Given the description of an element on the screen output the (x, y) to click on. 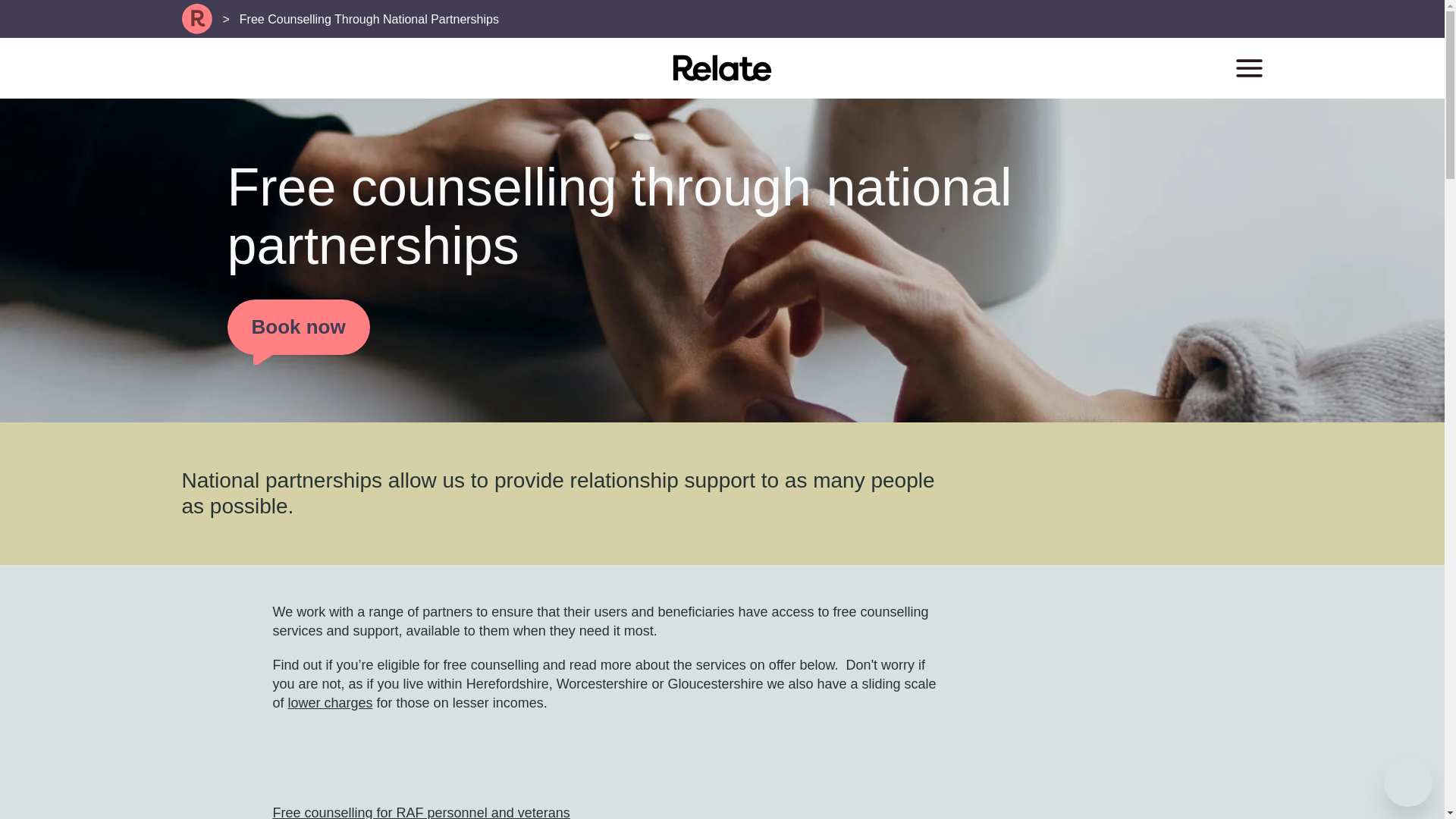
Generated with Avocode.LineLine CopyLine Copy 2 (1249, 67)
FAQ's (330, 702)
Home (197, 19)
The RAF Benevolent Fund (421, 812)
Generated with Avocode.LineLine CopyLine Copy 2 (1249, 67)
